Given the description of an element on the screen output the (x, y) to click on. 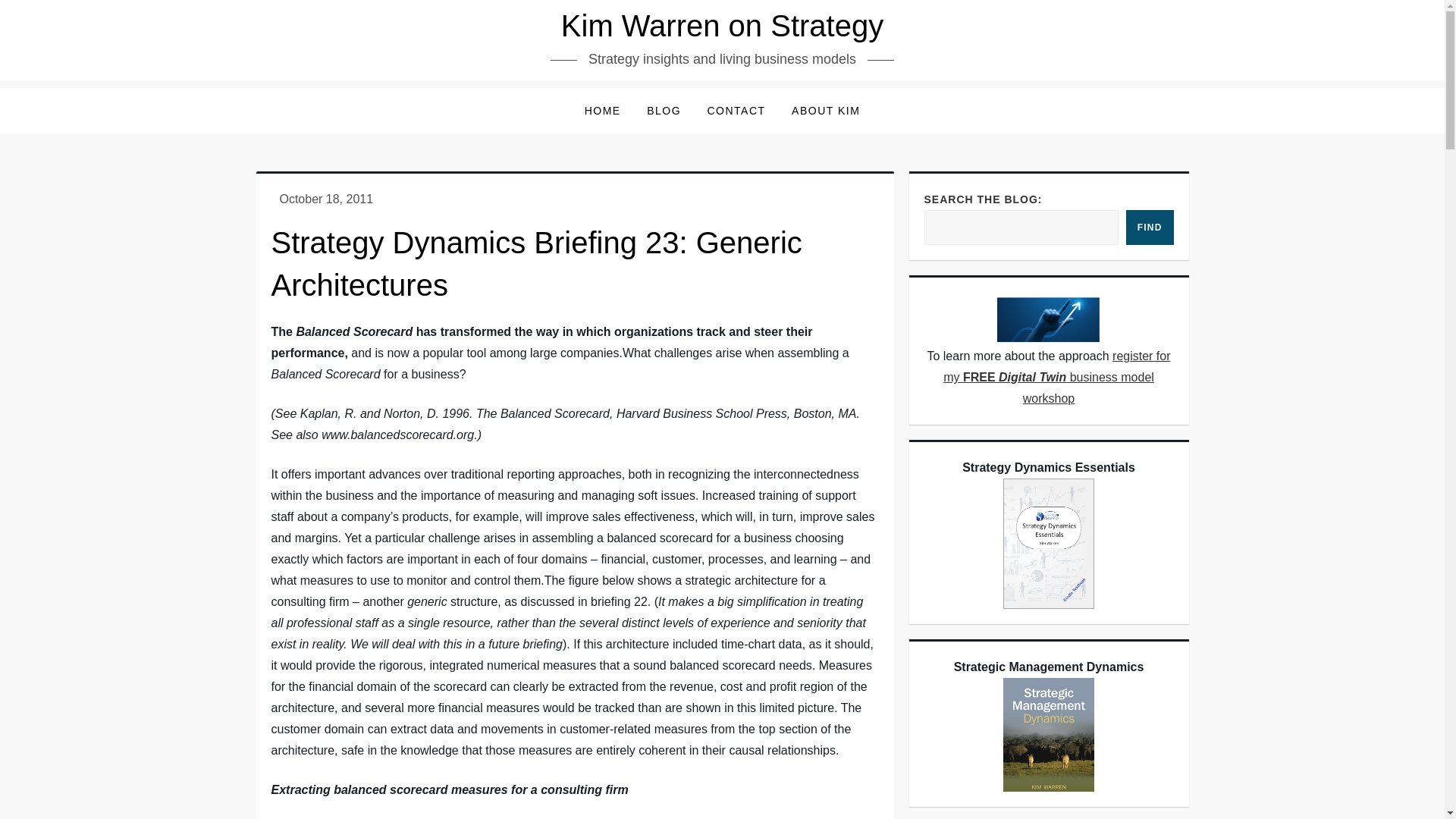
About Kim Warren (825, 110)
FIND (1149, 226)
Talking about strategy.. (663, 110)
HOME (602, 110)
October 18, 2011 (325, 198)
register for my FREE Digital Twin business model workshop (1056, 376)
CONTACT (735, 110)
ABOUT KIM (825, 110)
Kim Warren on Strategy (721, 25)
BLOG (663, 110)
